Given the description of an element on the screen output the (x, y) to click on. 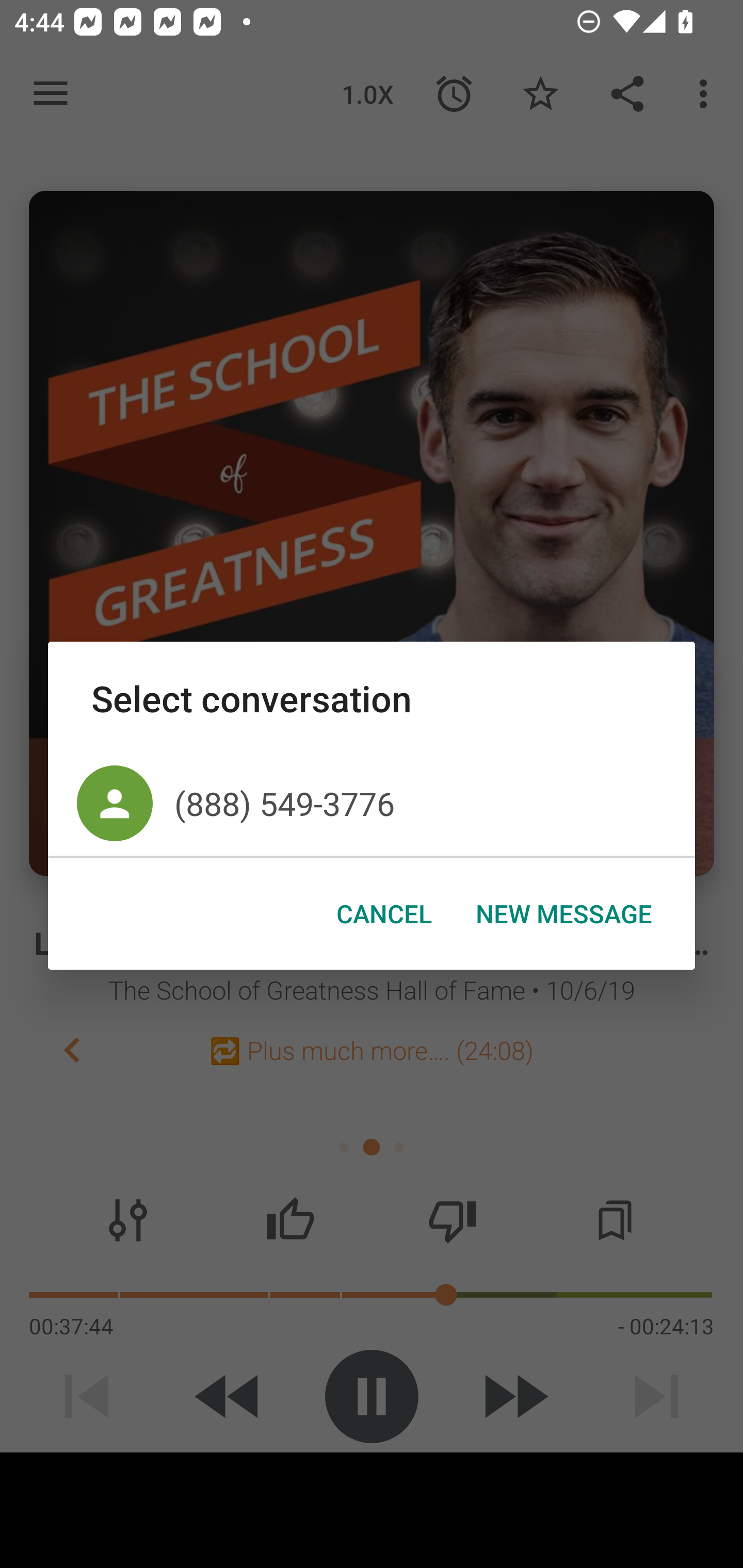
CANCEL (384, 913)
NEW MESSAGE (563, 913)
